Given the description of an element on the screen output the (x, y) to click on. 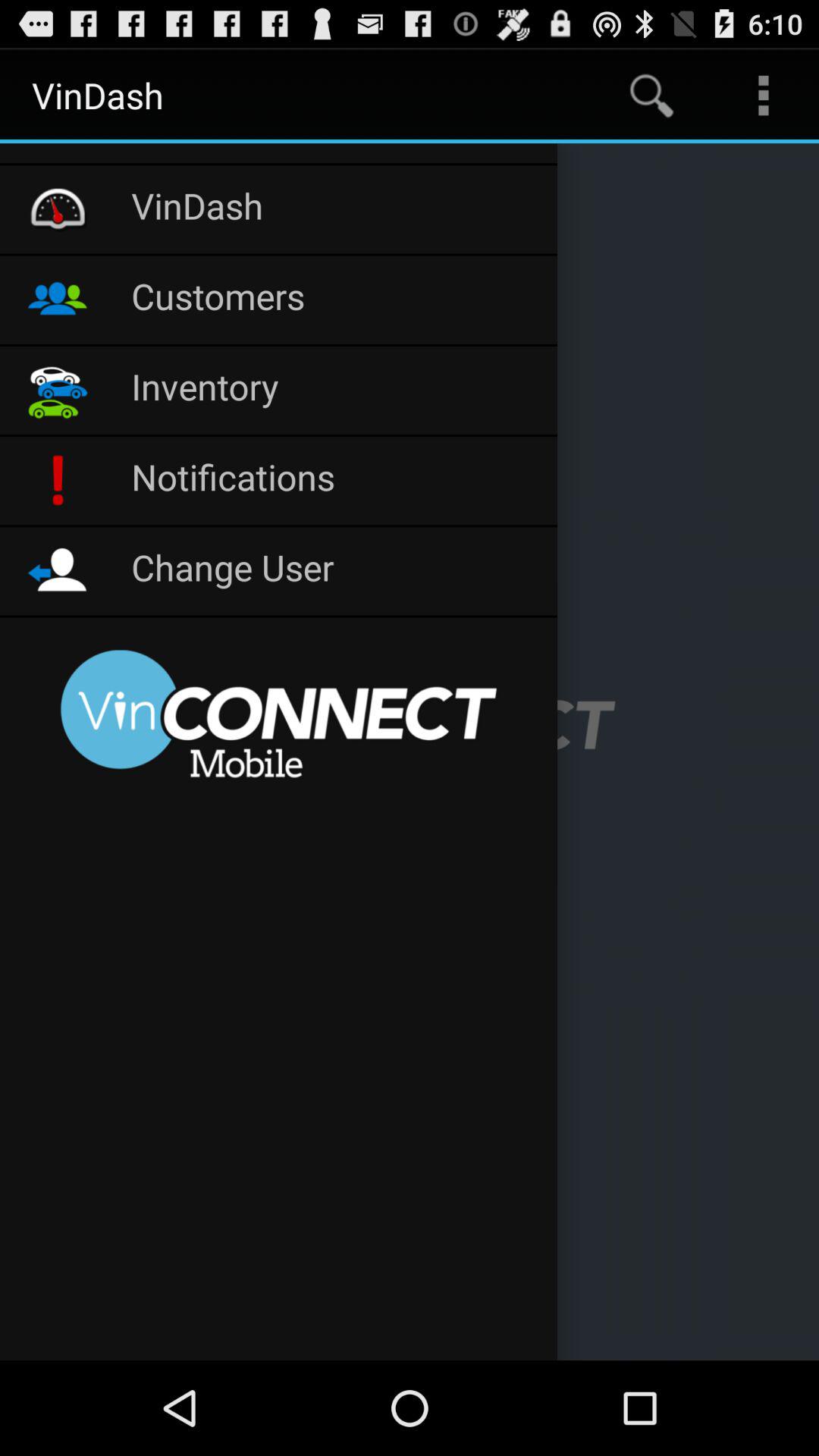
jump to the notifications icon (336, 480)
